Given the description of an element on the screen output the (x, y) to click on. 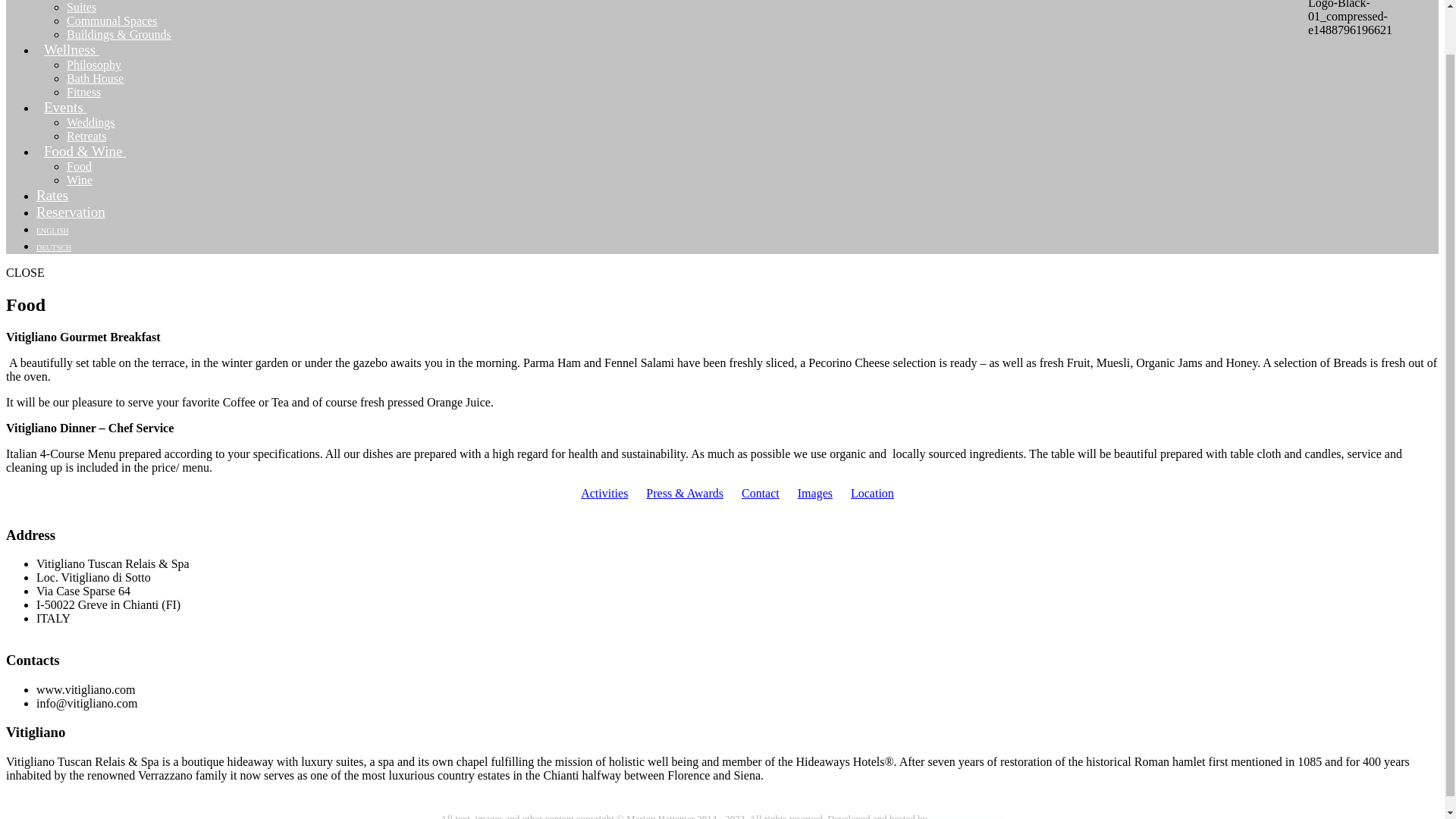
Events (70, 106)
Fitness (83, 91)
Retreats (86, 135)
Reservation (70, 211)
Suites (81, 6)
Philosophy (93, 64)
Rates (52, 195)
Location (871, 492)
Wine (79, 179)
Weddings (90, 122)
Contact (759, 492)
Food (78, 165)
Wellness (76, 49)
Communal Spaces (111, 20)
Activities (603, 492)
